Given the description of an element on the screen output the (x, y) to click on. 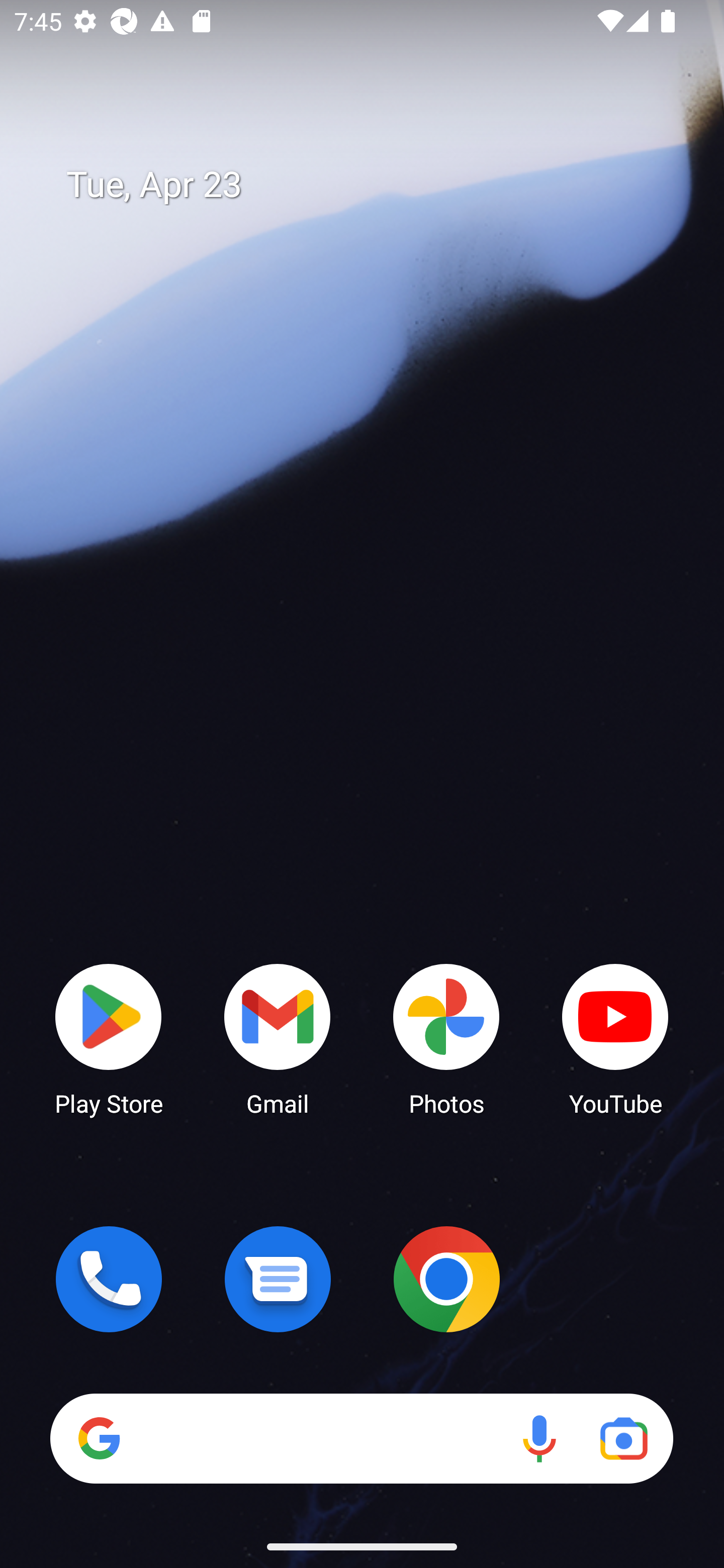
Tue, Apr 23 (375, 184)
Play Store (108, 1038)
Gmail (277, 1038)
Photos (445, 1038)
YouTube (615, 1038)
Phone (108, 1279)
Messages (277, 1279)
Chrome (446, 1279)
Search Voice search Google Lens (361, 1438)
Voice search (539, 1438)
Google Lens (623, 1438)
